Given the description of an element on the screen output the (x, y) to click on. 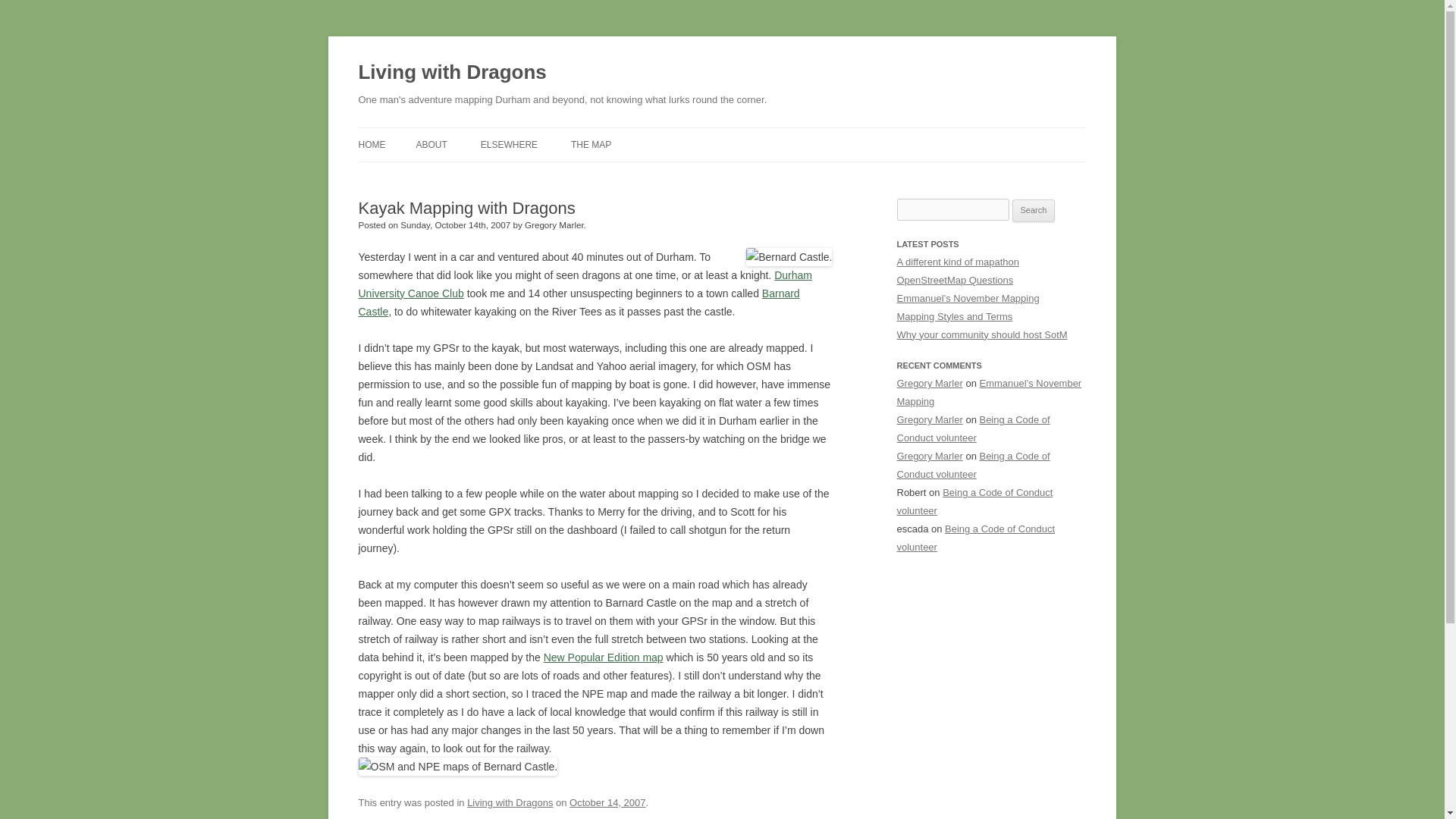
12:02 pm (607, 802)
ABOUT (430, 144)
Gregory Marler (929, 455)
OpenStreetMap Questions (954, 279)
A different kind of mapathon (956, 261)
Living with Dragons (452, 72)
Being a Code of Conduct volunteer (972, 464)
Living with Dragons (452, 72)
Why your community should host SotM (981, 334)
Barnard Castle (578, 302)
Search (1033, 210)
New Popular Edition map (603, 657)
Being a Code of Conduct volunteer (975, 537)
Skip to content (757, 132)
October 14, 2007 (607, 802)
